Given the description of an element on the screen output the (x, y) to click on. 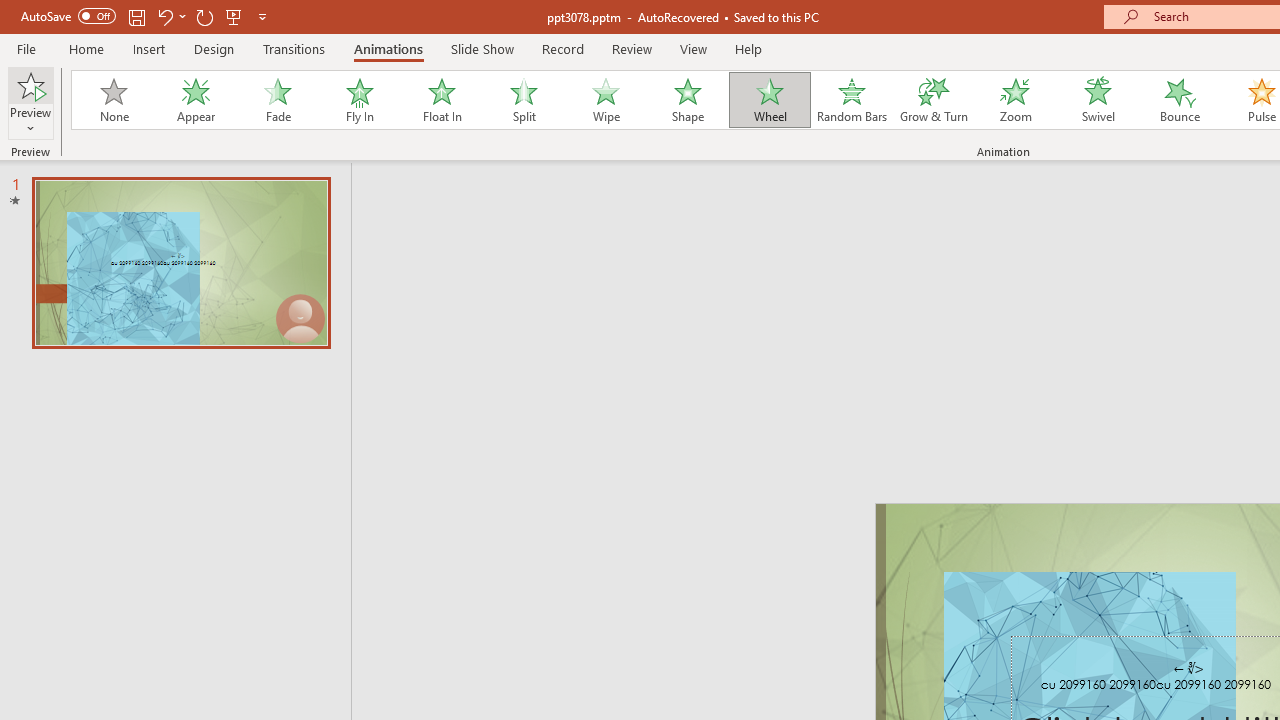
Fly In (359, 100)
Appear (195, 100)
Wipe (605, 100)
Wheel (770, 100)
Split (523, 100)
